Given the description of an element on the screen output the (x, y) to click on. 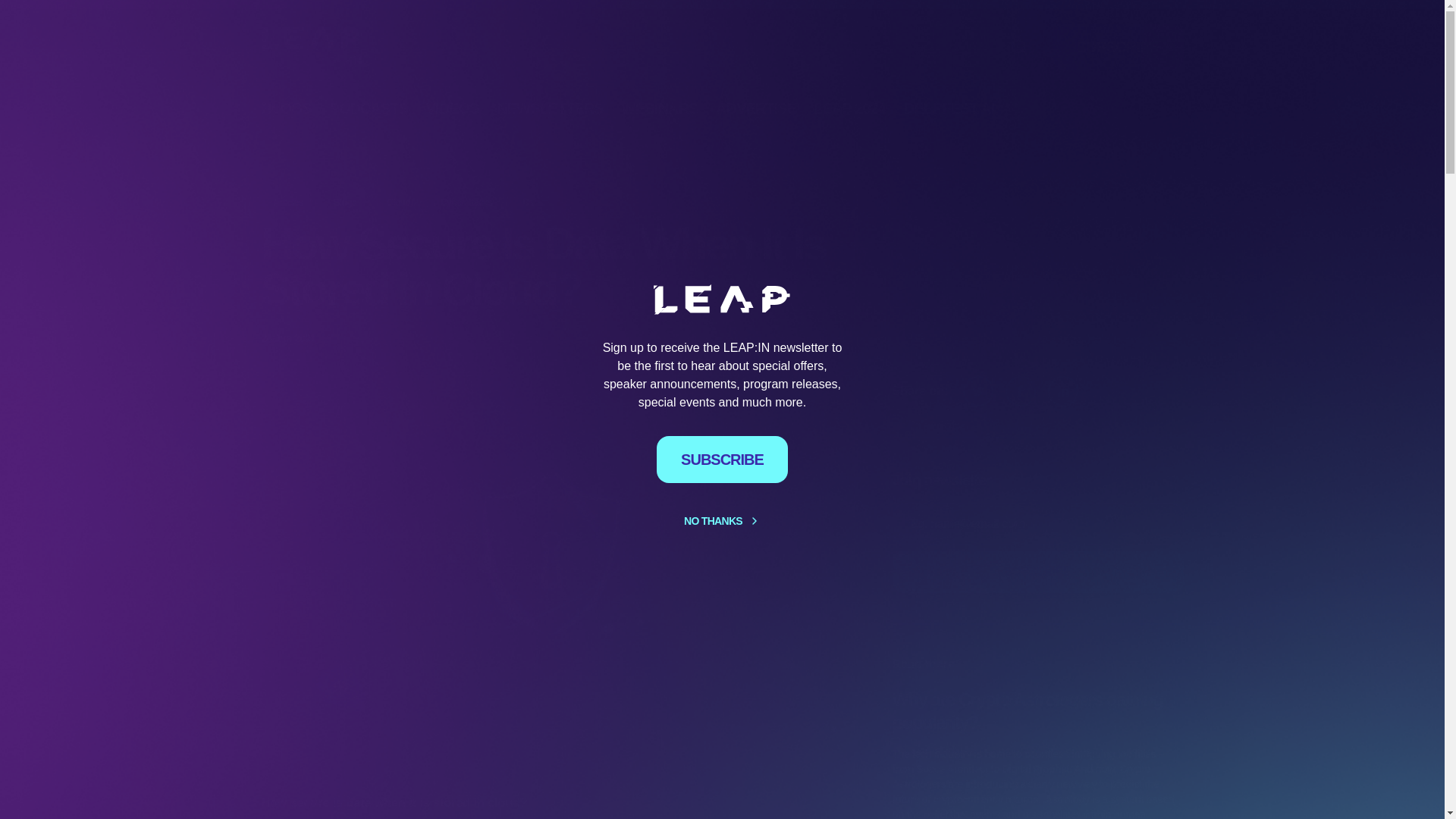
Cyberattacks (465, 202)
VIDEOS (452, 108)
LEAP 2024 (849, 108)
Data (532, 202)
BLOGS (285, 108)
ADVERTISE (755, 108)
Why are Crypto Astrologers gaining popularity? (1036, 710)
Cloud (398, 202)
SUBSCRIBE (1117, 46)
DEEPFEST AI (949, 108)
PODCASTS (368, 108)
WEBINARS (659, 108)
Blogs (344, 202)
NEWSLETTERS (549, 108)
